Given the description of an element on the screen output the (x, y) to click on. 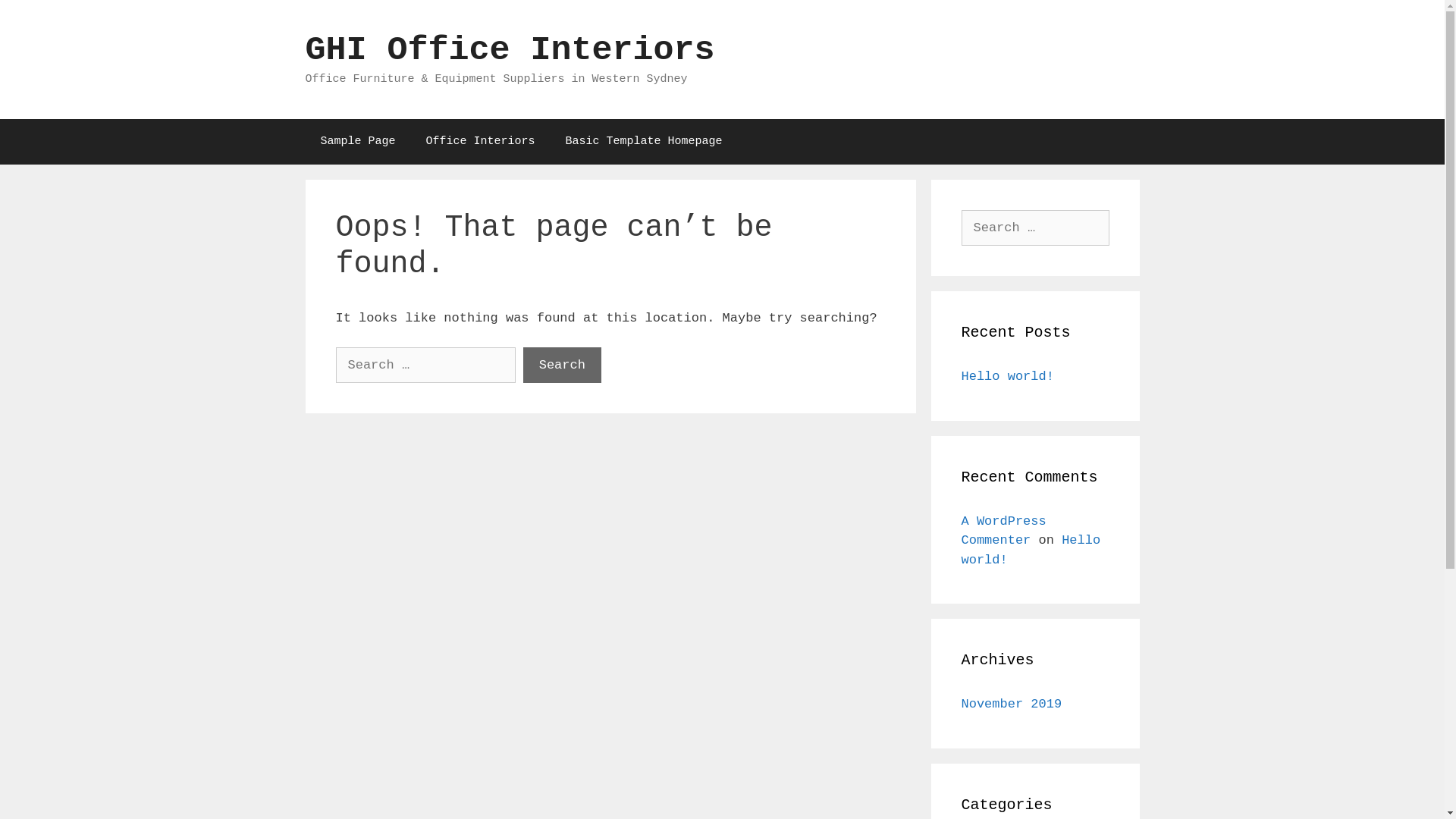
Hello world! Element type: text (1007, 376)
Search for: Element type: hover (424, 365)
Office Interiors Element type: text (480, 140)
Search Element type: text (562, 365)
November 2019 Element type: text (1011, 703)
GHI Office Interiors Element type: text (509, 50)
Basic Template Homepage Element type: text (643, 140)
Search Element type: text (39, 18)
A WordPress Commenter Element type: text (1003, 531)
Hello world! Element type: text (1031, 550)
Search for: Element type: hover (1035, 227)
Sample Page Element type: text (357, 140)
